Given the description of an element on the screen output the (x, y) to click on. 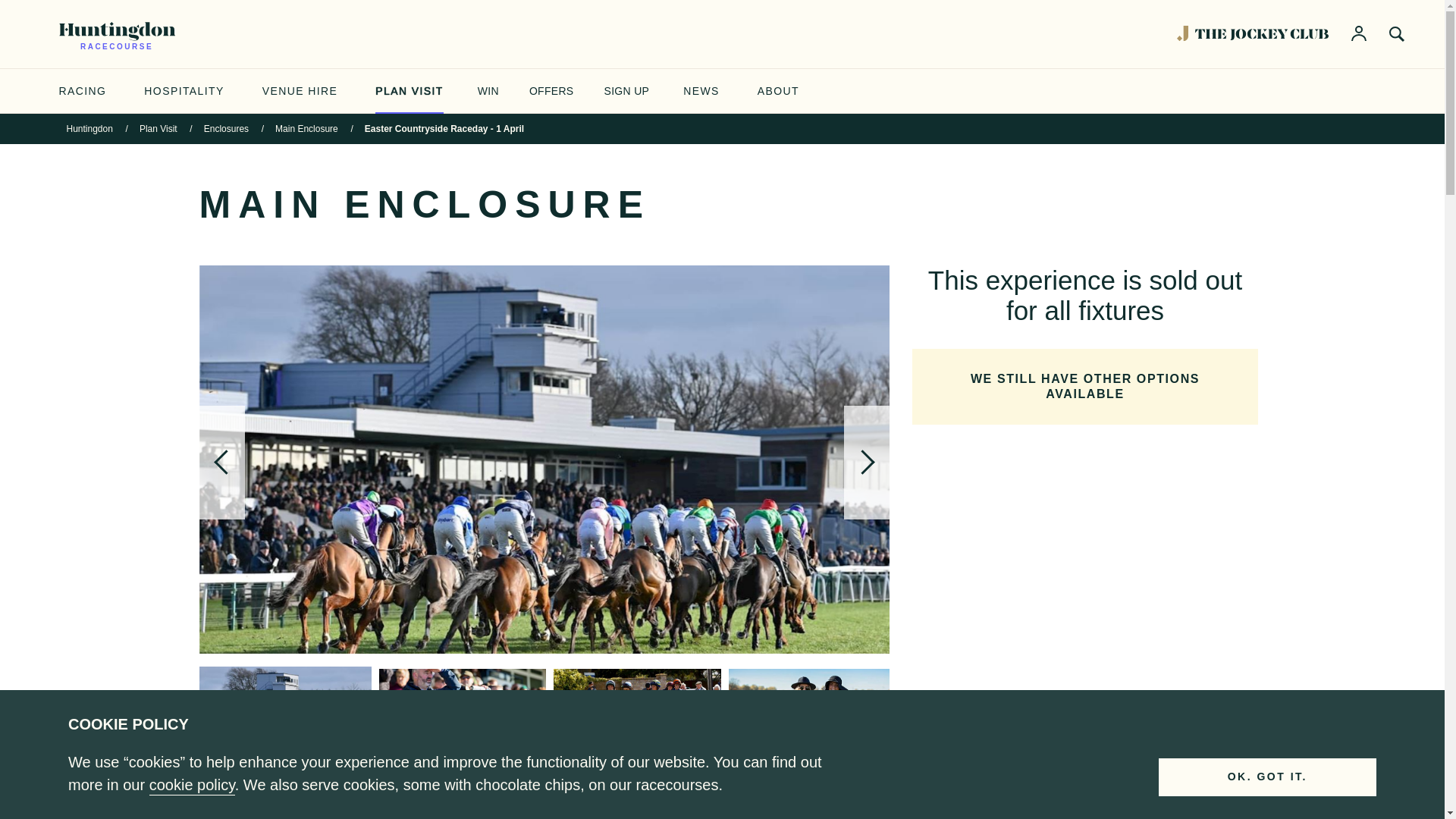
HOSPITALITY (184, 90)
RACING (82, 90)
RACECOURSE (116, 33)
